Given the description of an element on the screen output the (x, y) to click on. 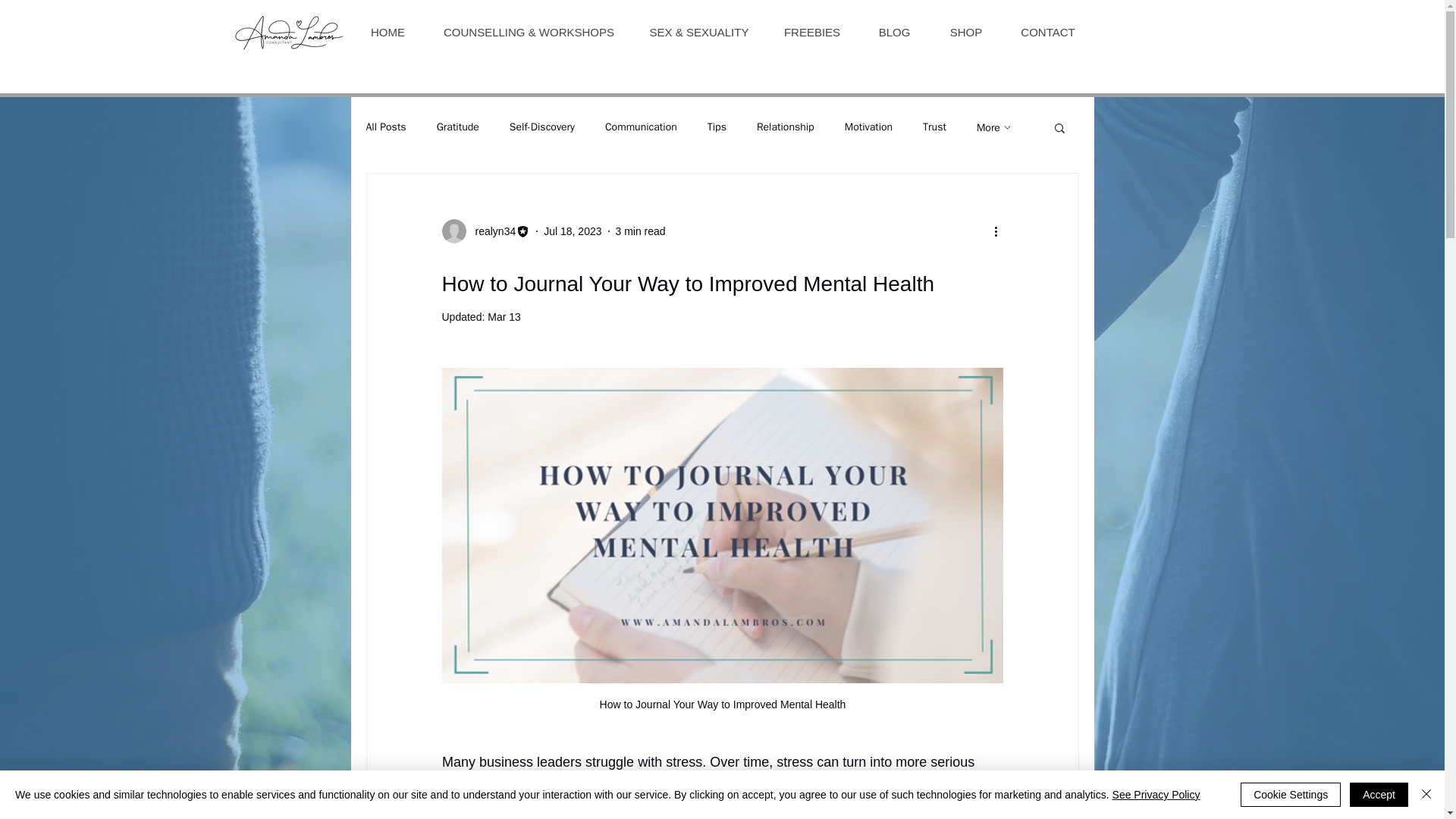
realyn34 (485, 231)
realyn34 (490, 230)
Jul 18, 2023 (572, 230)
Self-Discovery (542, 127)
3 min read (640, 230)
CONTACT (1047, 32)
BLOG (894, 32)
HOME (387, 32)
Tips (716, 127)
SHOP (965, 32)
All Posts (385, 127)
FREEBIES (812, 32)
Motivation (868, 127)
Relationship (785, 127)
Counselling and Consultancy (288, 32)
